Given the description of an element on the screen output the (x, y) to click on. 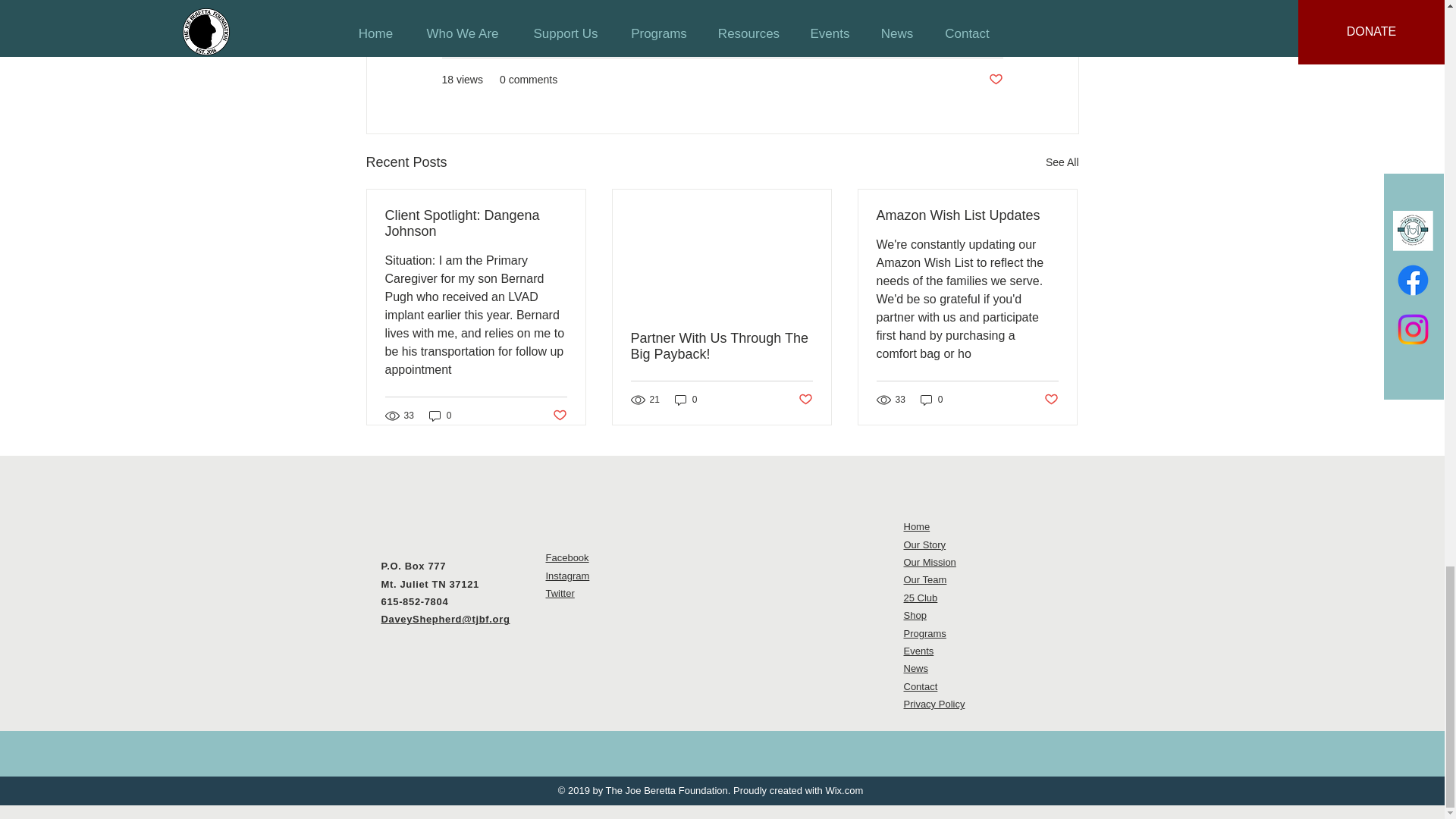
Post not marked as liked (558, 415)
Post not marked as liked (995, 79)
See All (1061, 162)
0 (440, 415)
Client Spotlight: Dangena Johnson (476, 223)
